Given the description of an element on the screen output the (x, y) to click on. 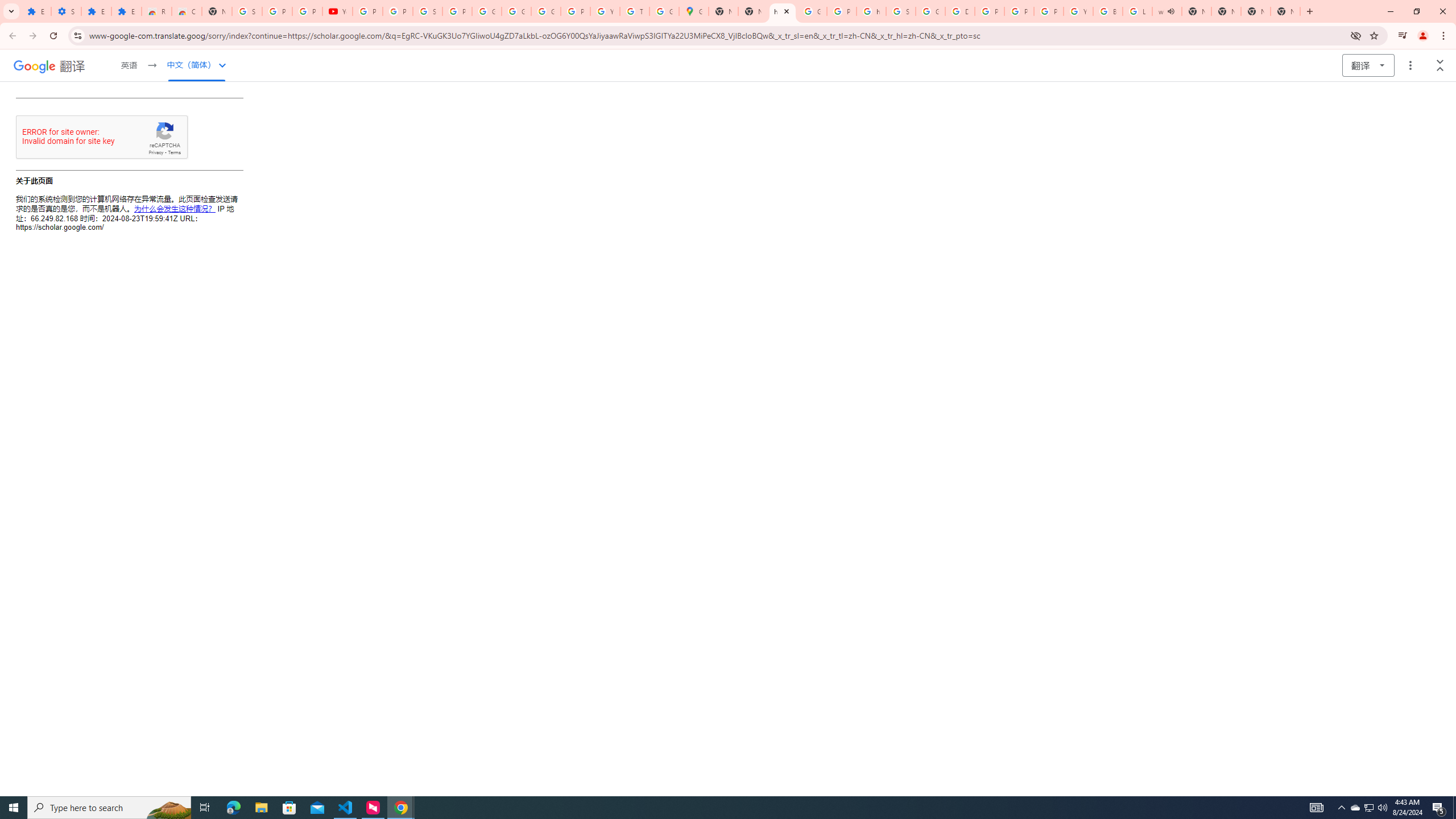
YouTube (337, 11)
YouTube (1077, 11)
Privacy Help Center - Policies Help (989, 11)
